Given the description of an element on the screen output the (x, y) to click on. 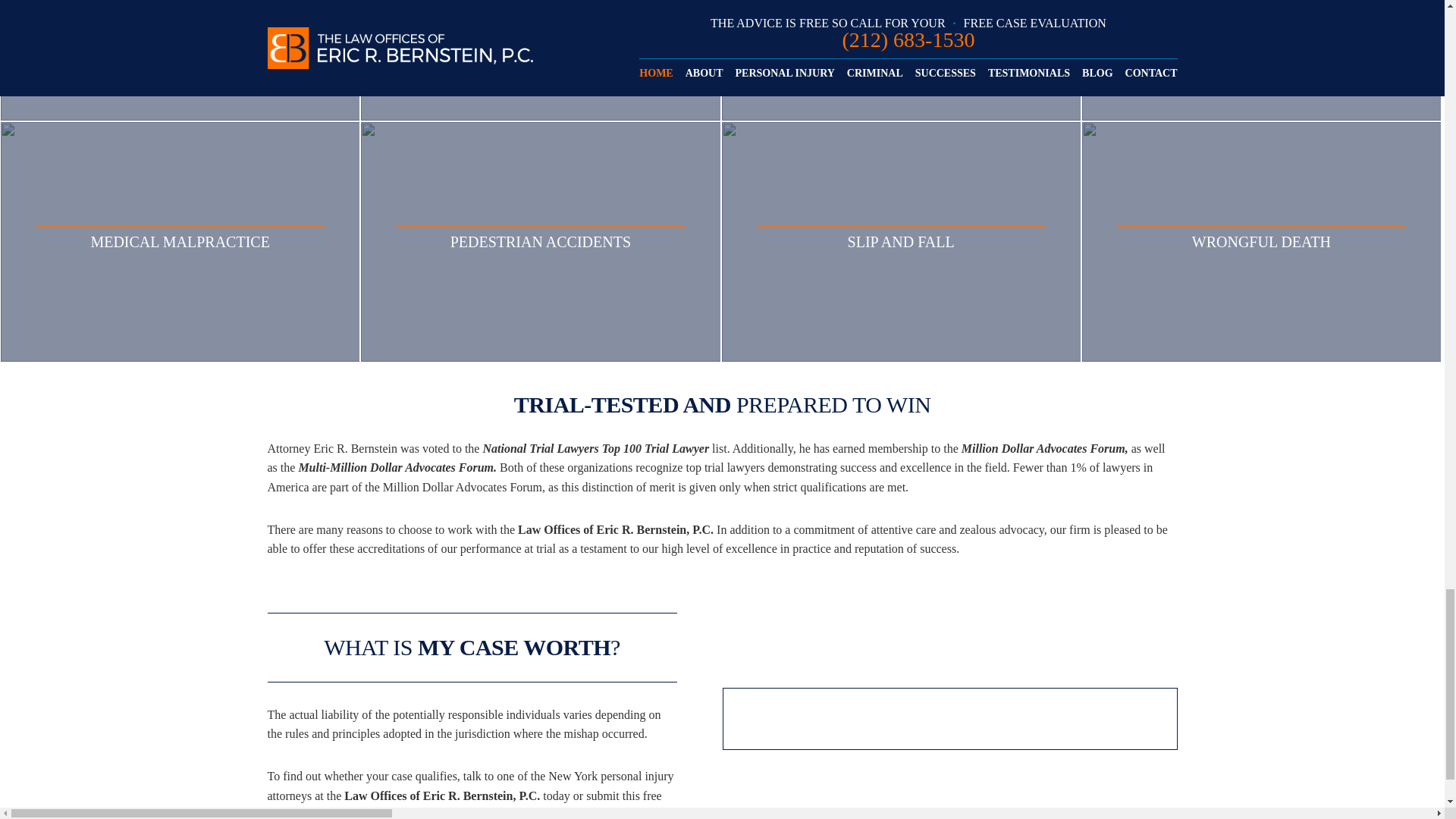
Traumatic Brain Injuries (540, 60)
Motor Vehicle Accidents (180, 60)
Spinal Cord Injuries (901, 60)
Slip and Fall Claims (901, 241)
Wrongful Death (1261, 241)
Pedestrian Accidents (540, 241)
Medical Malpractice (180, 241)
Dog Bite Claims (1261, 60)
